Given the description of an element on the screen output the (x, y) to click on. 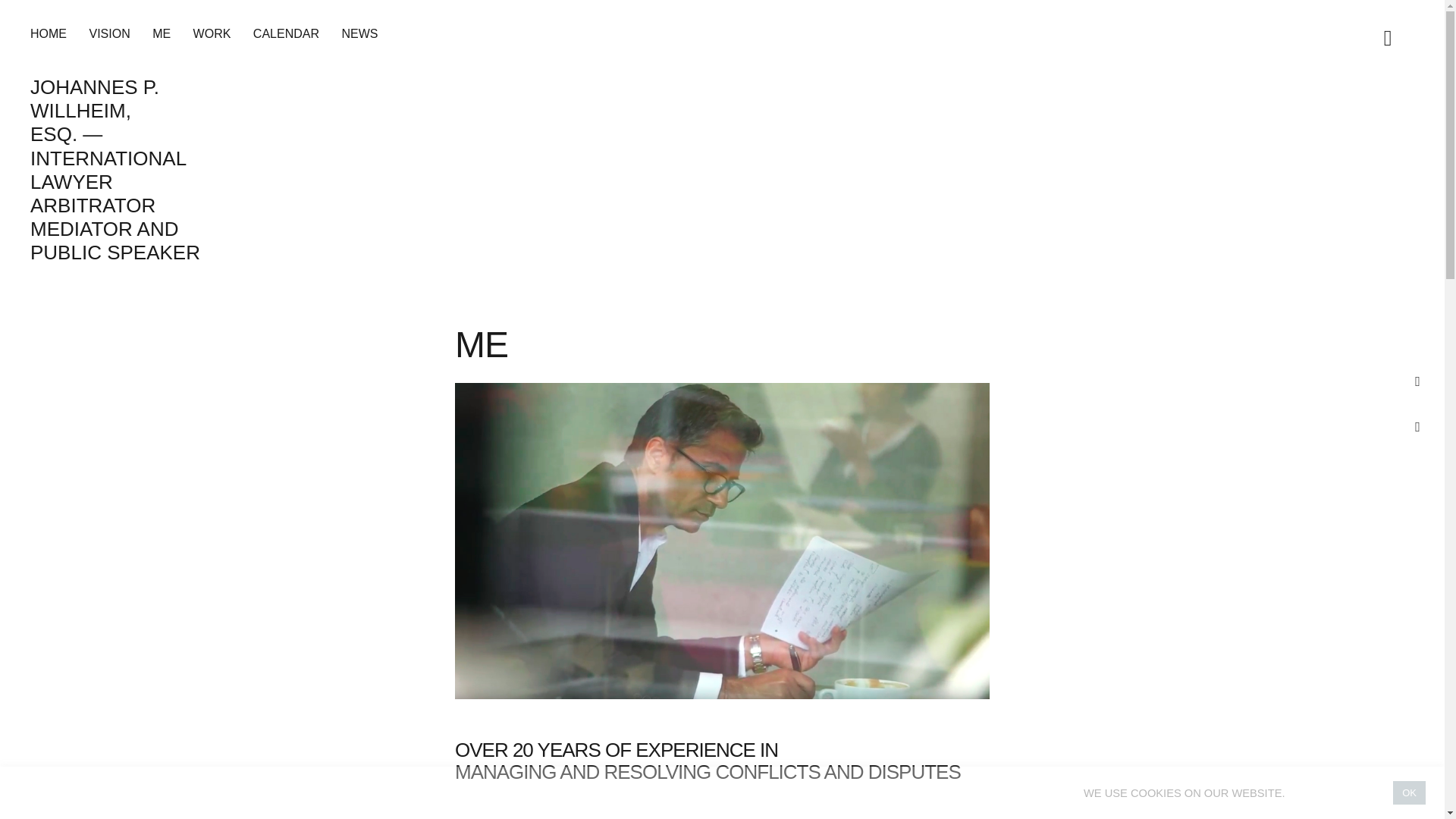
Linkedin (1417, 426)
WORK (212, 33)
YouTube (1417, 380)
ME (161, 33)
CALENDAR (285, 33)
NEWS (358, 33)
HOME (48, 33)
VISION (108, 33)
